Given the description of an element on the screen output the (x, y) to click on. 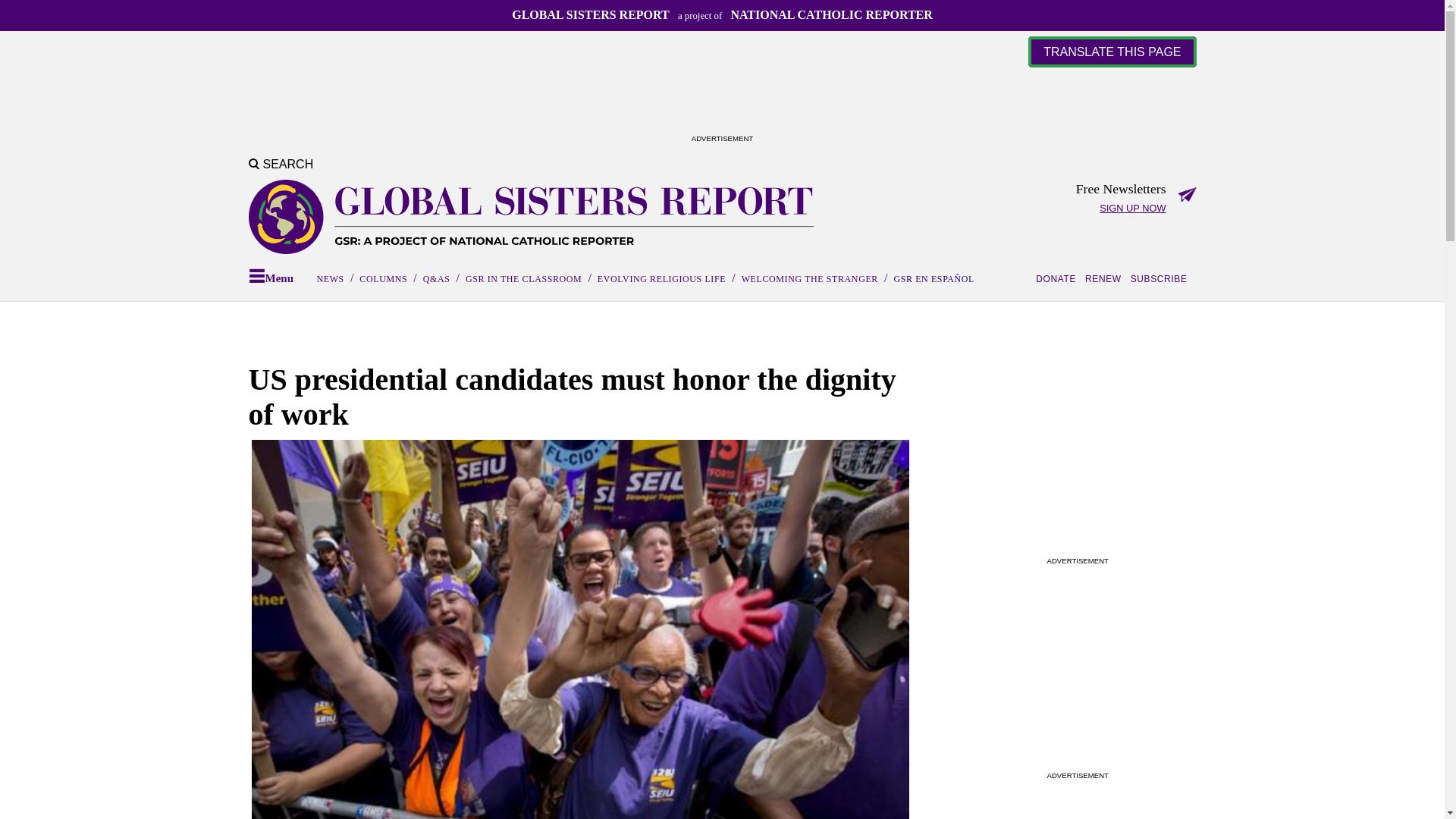
DONATE (1058, 279)
EVOLVING RELIGIOUS LIFE (660, 278)
3rd party ad content (721, 95)
COLUMNS (383, 278)
Back to Global Sisters Report homepage (530, 216)
WELCOMING THE STRANGER (809, 278)
RENEW (1105, 279)
3rd party ad content (1077, 457)
TRANSLATE THIS PAGE (1111, 51)
GSR in the Classroom (522, 278)
